Given the description of an element on the screen output the (x, y) to click on. 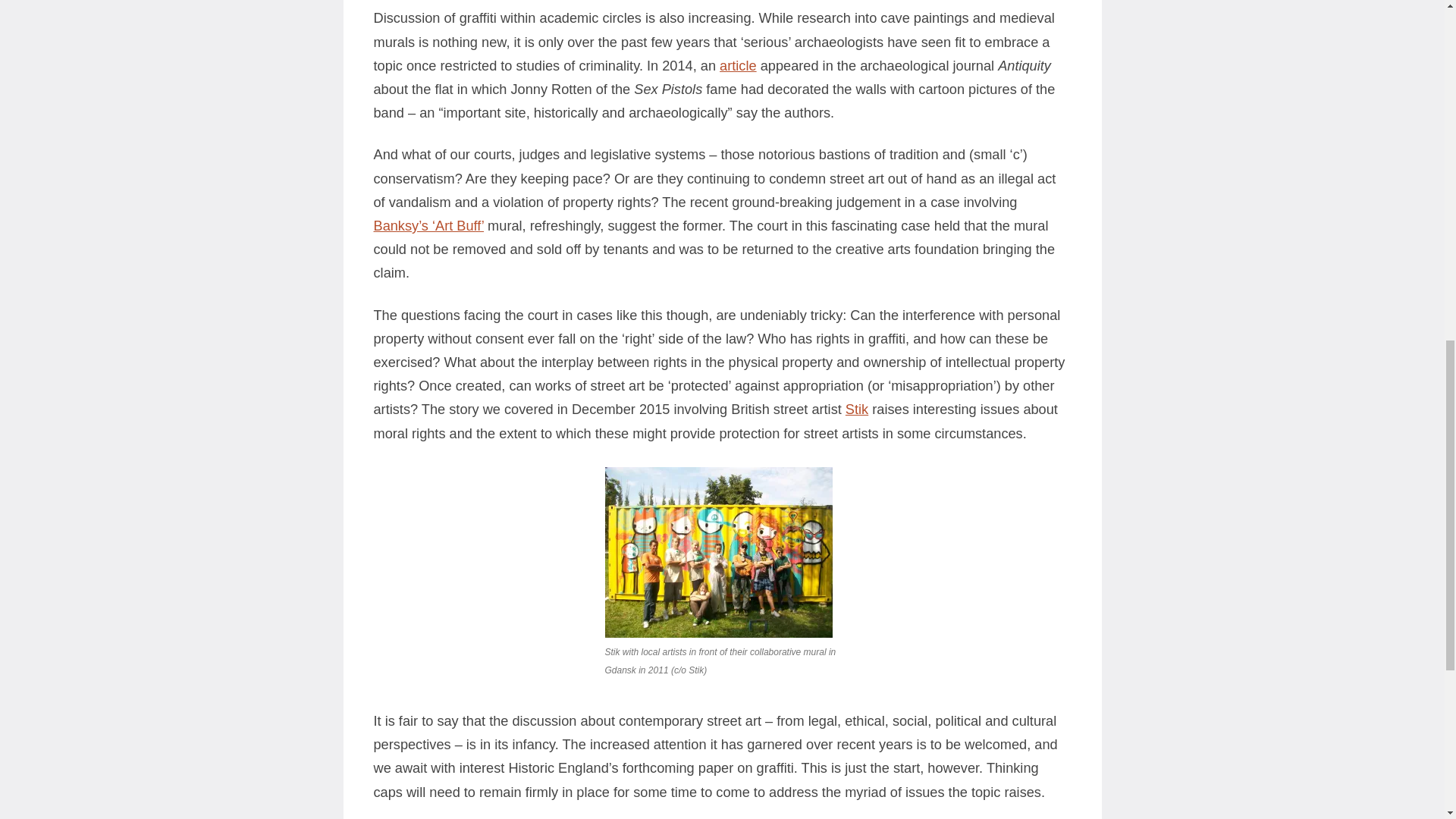
article (738, 65)
Stik (856, 409)
